Given the description of an element on the screen output the (x, y) to click on. 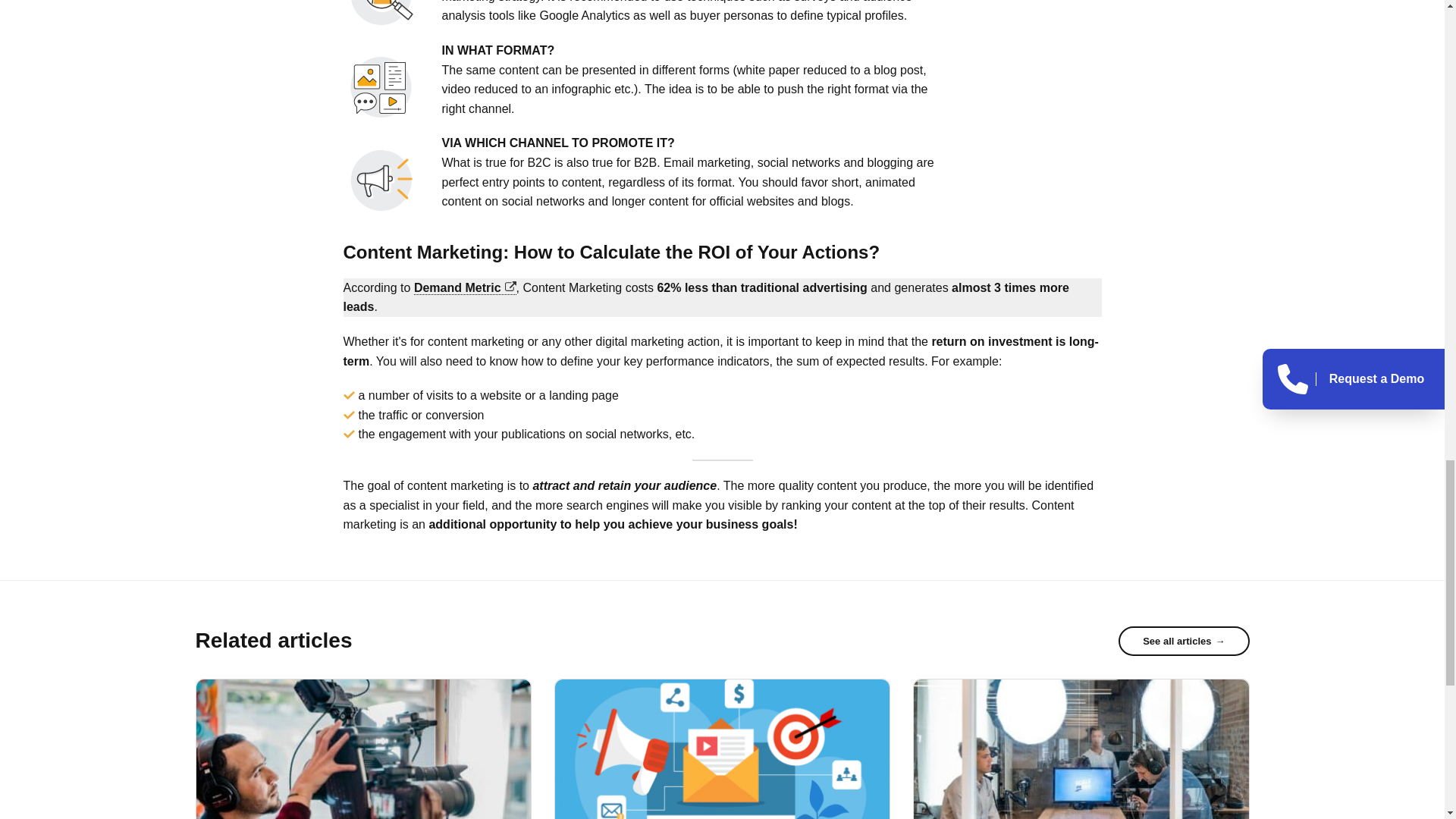
See all articles (1183, 641)
